Given the description of an element on the screen output the (x, y) to click on. 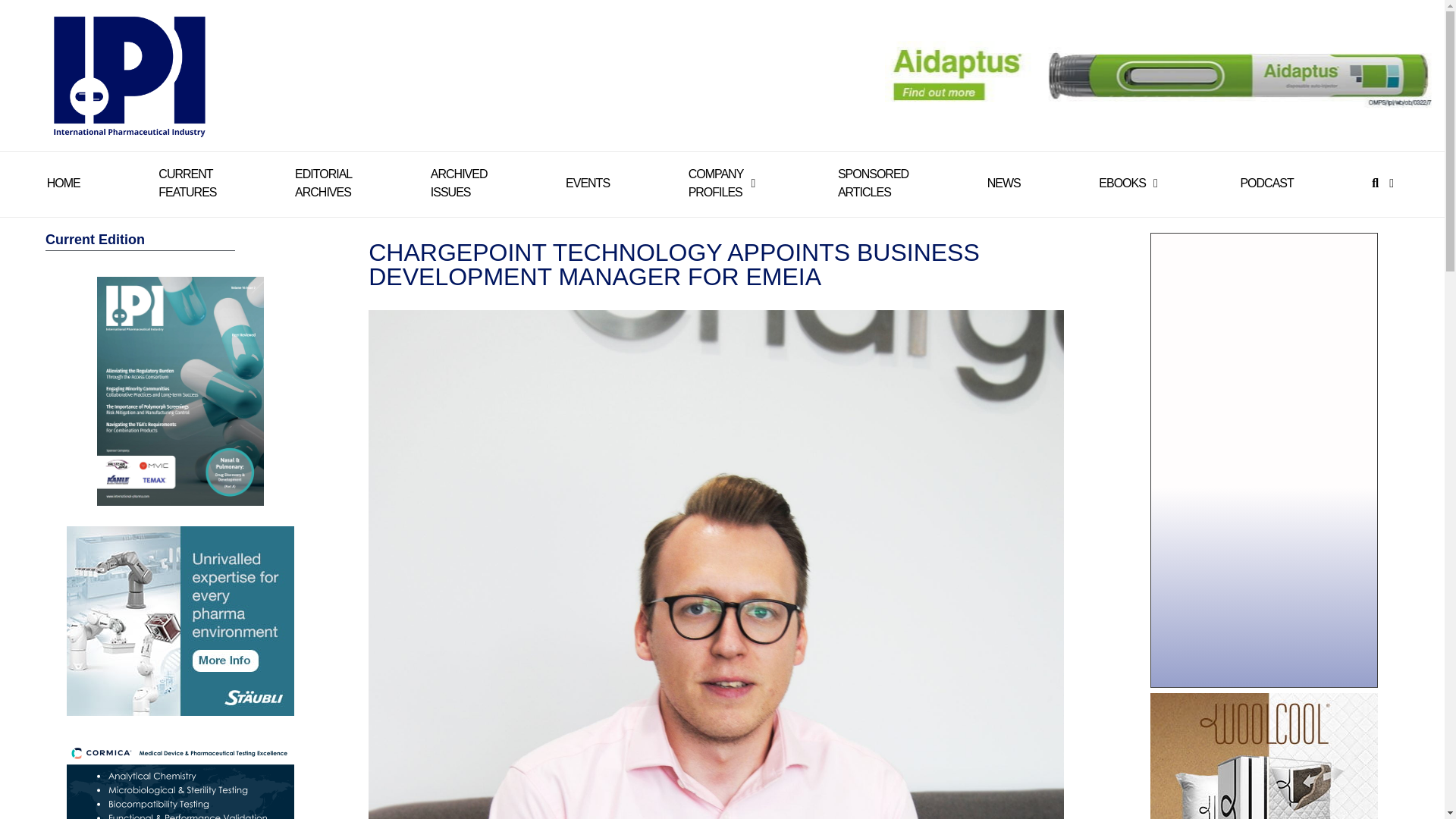
EVENTS (873, 183)
NEWS (716, 183)
PODCAST (588, 183)
HOME (323, 183)
